Given the description of an element on the screen output the (x, y) to click on. 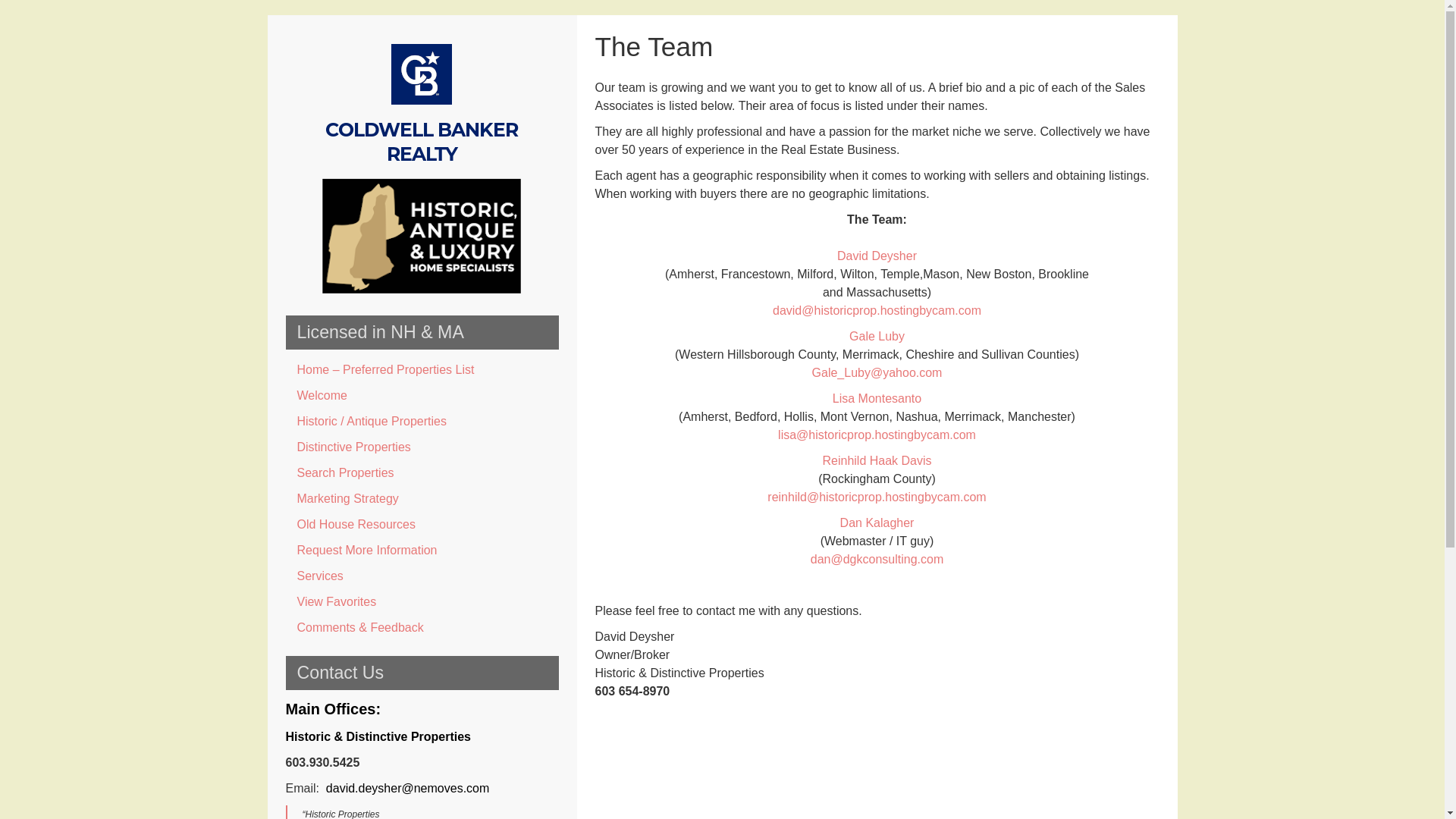
Marketing Strategy (421, 498)
Reinhild Haak Davis (876, 460)
Distinctive Properties (421, 447)
Lisa Montesanto (876, 398)
Gale Luby (876, 336)
David Deysher (877, 255)
View Favorites (421, 601)
Dan Kalagher (877, 522)
Old House Resources (421, 524)
Request More Information (421, 550)
Welcome (421, 395)
Search Properties (421, 473)
Services (421, 575)
